Given the description of an element on the screen output the (x, y) to click on. 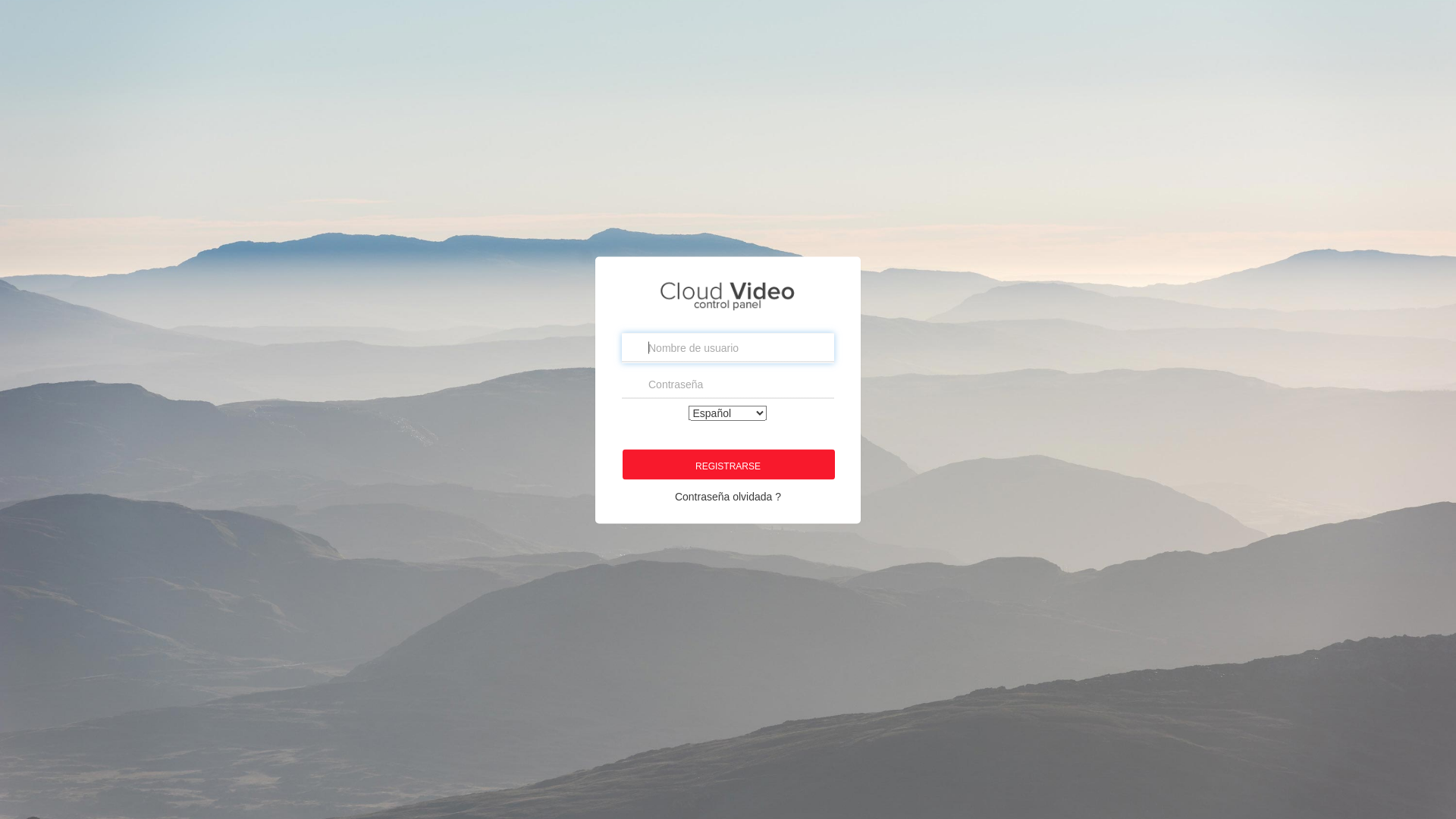
REGISTRARSE Element type: text (728, 463)
